Given the description of an element on the screen output the (x, y) to click on. 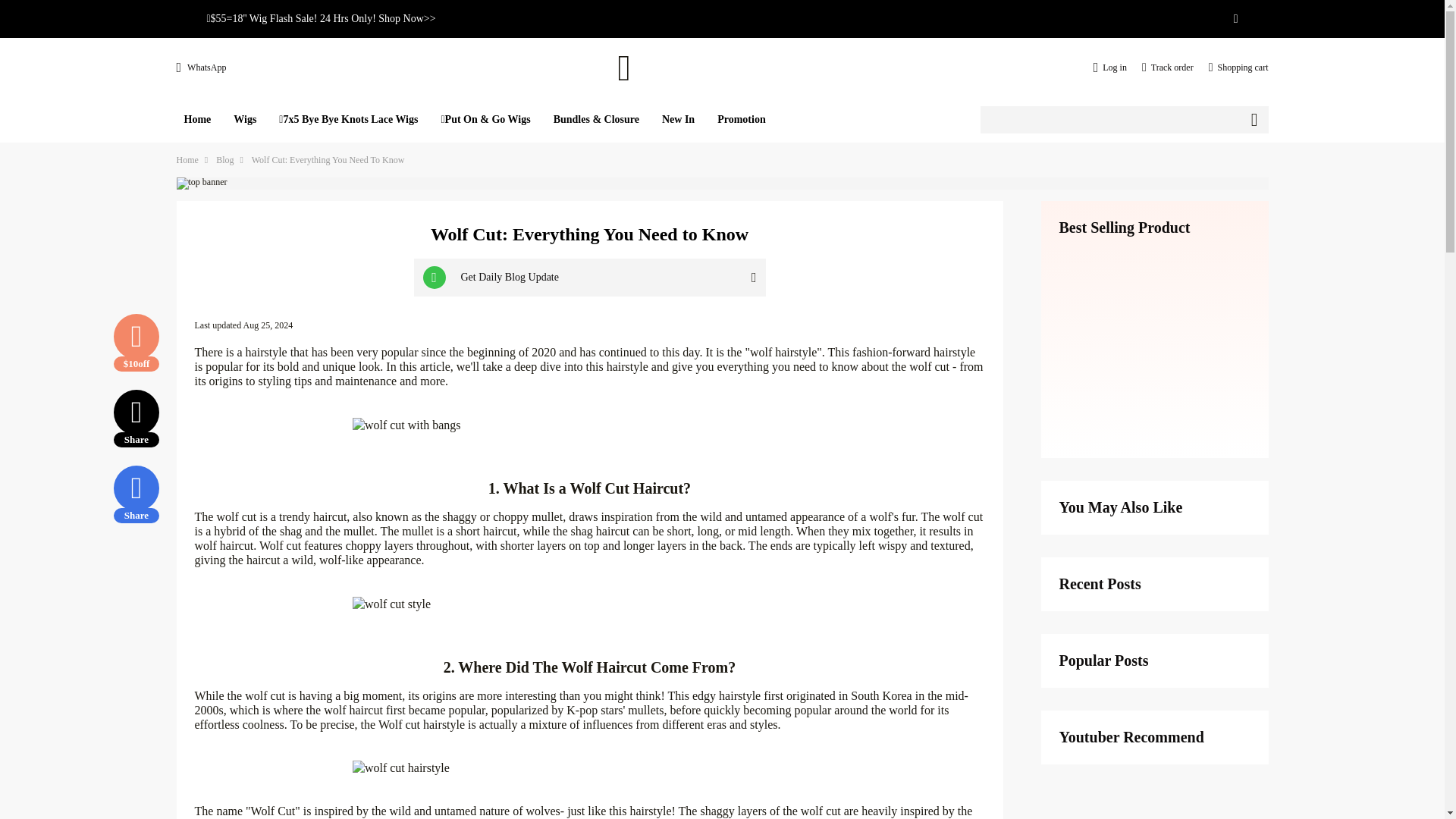
Home (197, 119)
Promotion (741, 119)
Log in (1109, 66)
julia (722, 67)
New In (677, 119)
Wigs (244, 119)
